Given the description of an element on the screen output the (x, y) to click on. 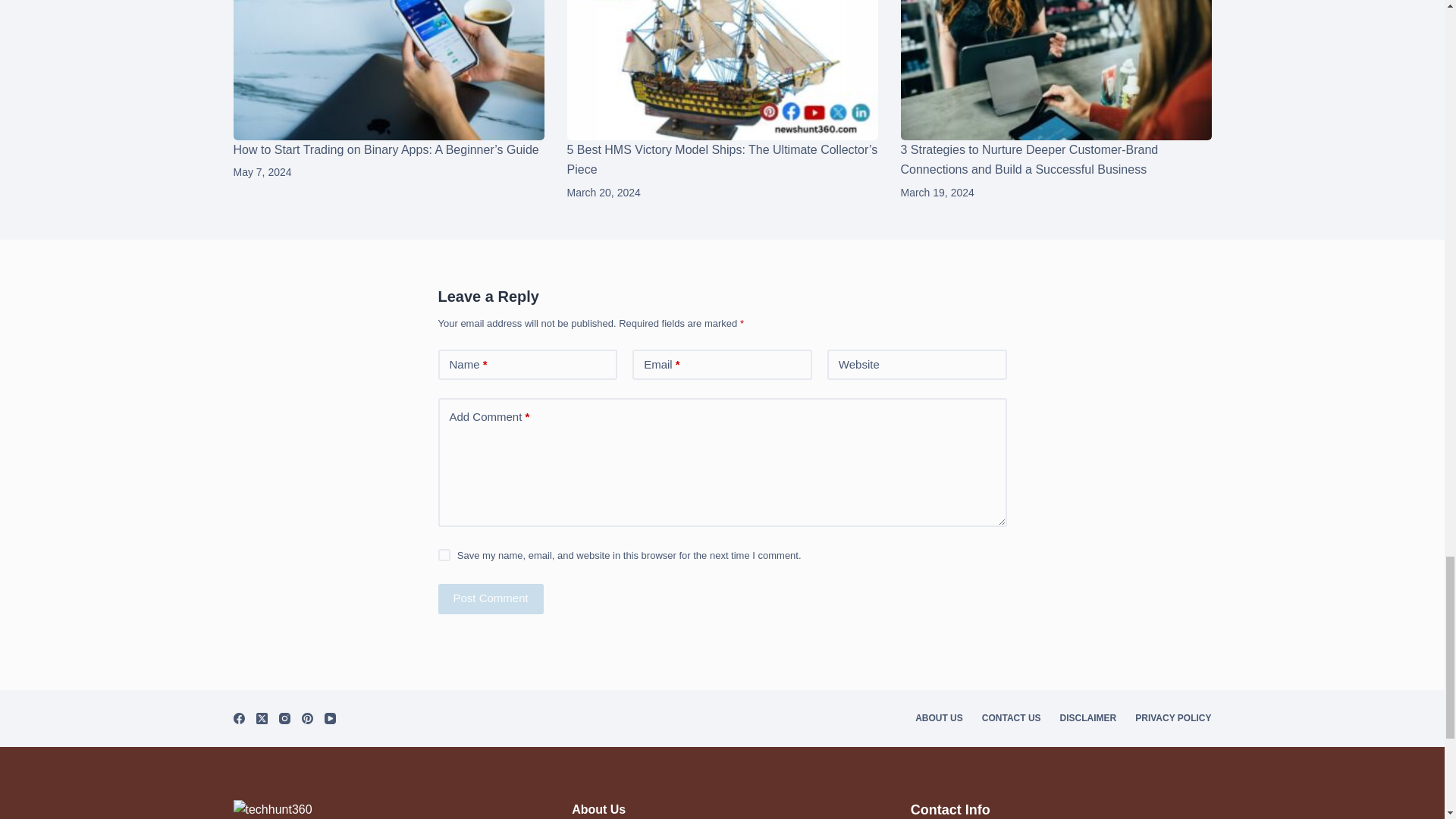
yes (443, 554)
